Given the description of an element on the screen output the (x, y) to click on. 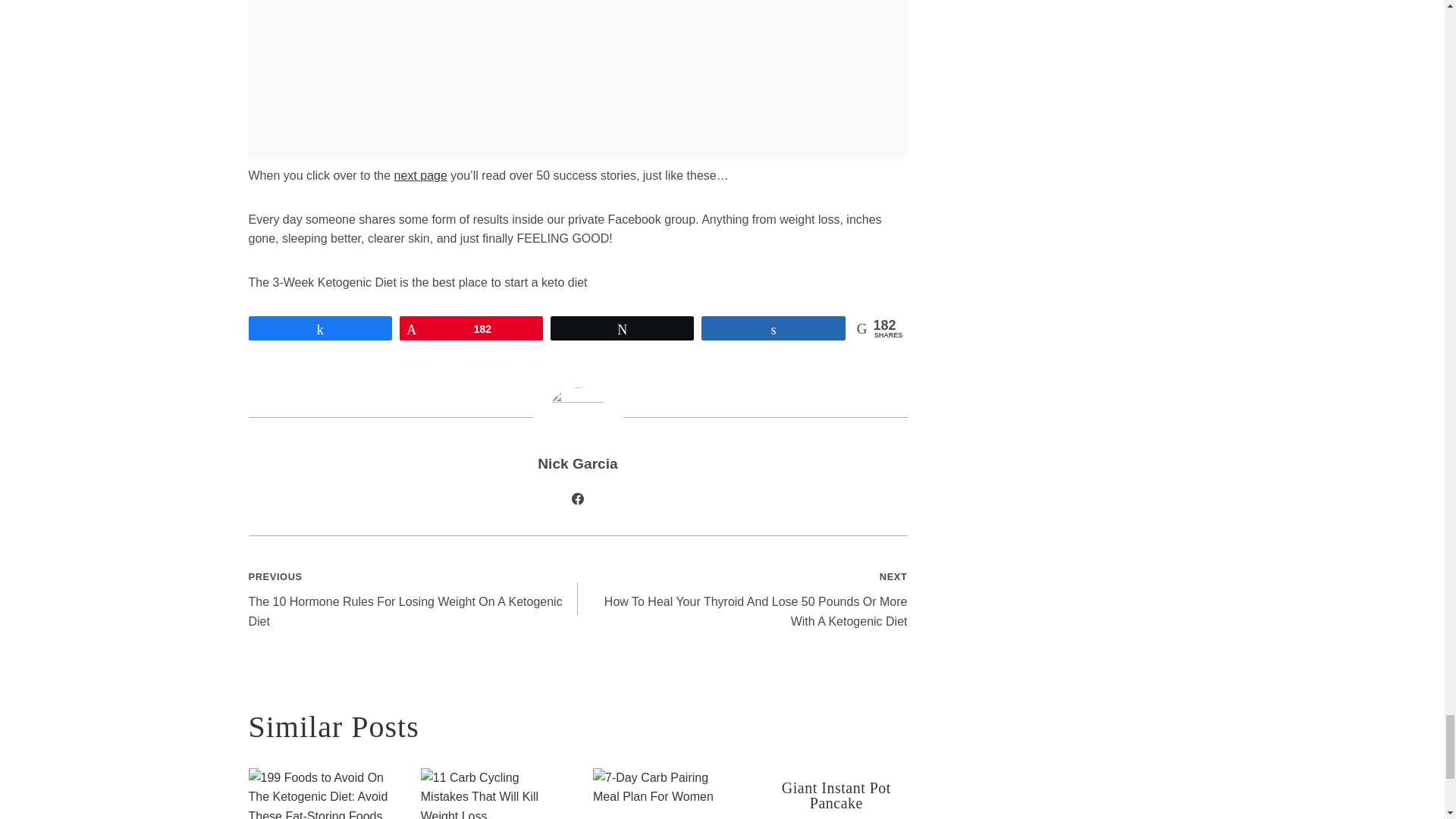
Posts by Nick Garcia (577, 463)
Follow Nick Garcia on Facebook (577, 498)
